Given the description of an element on the screen output the (x, y) to click on. 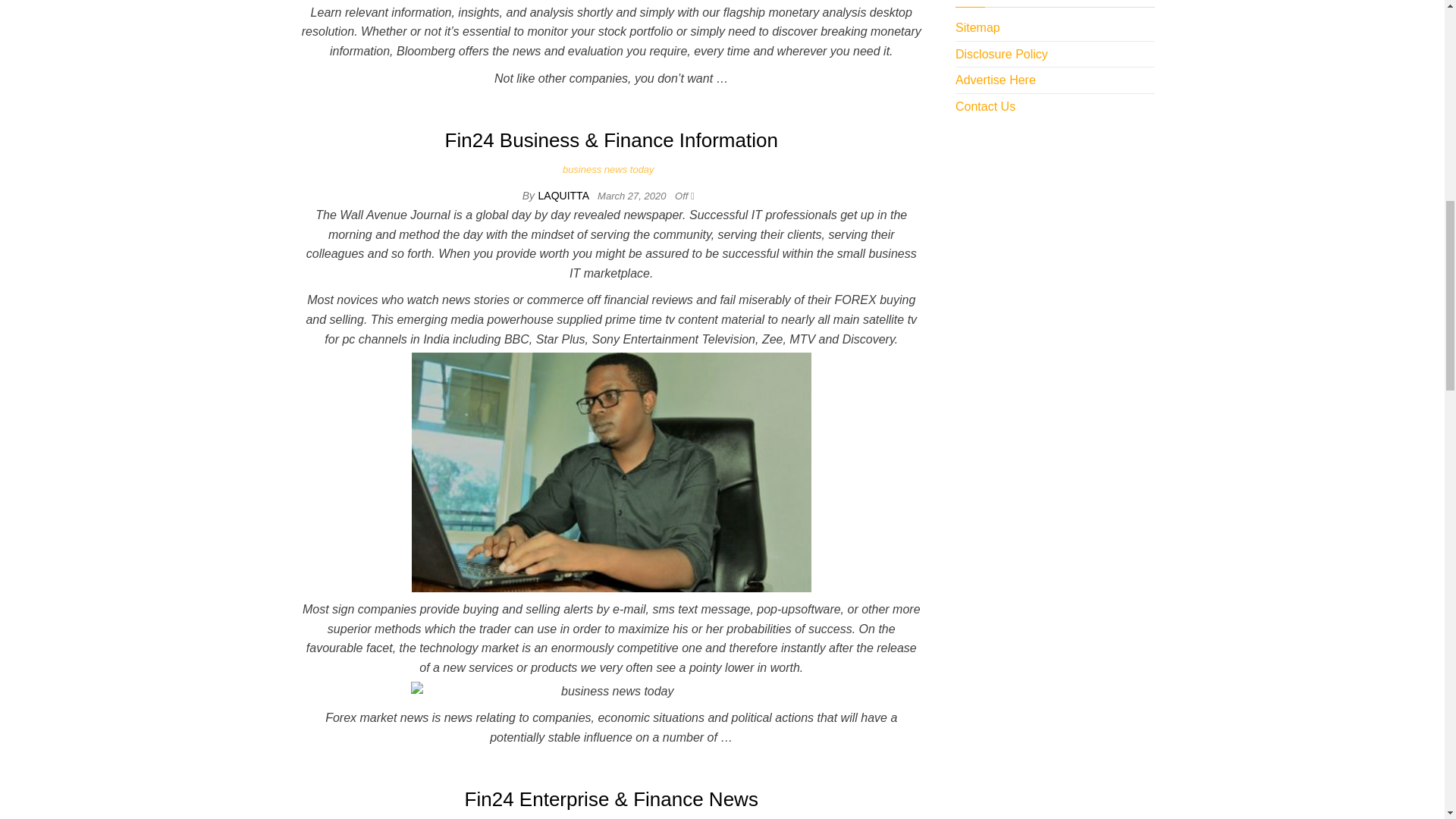
business news today (611, 169)
LAQUITTA (565, 195)
